Given the description of an element on the screen output the (x, y) to click on. 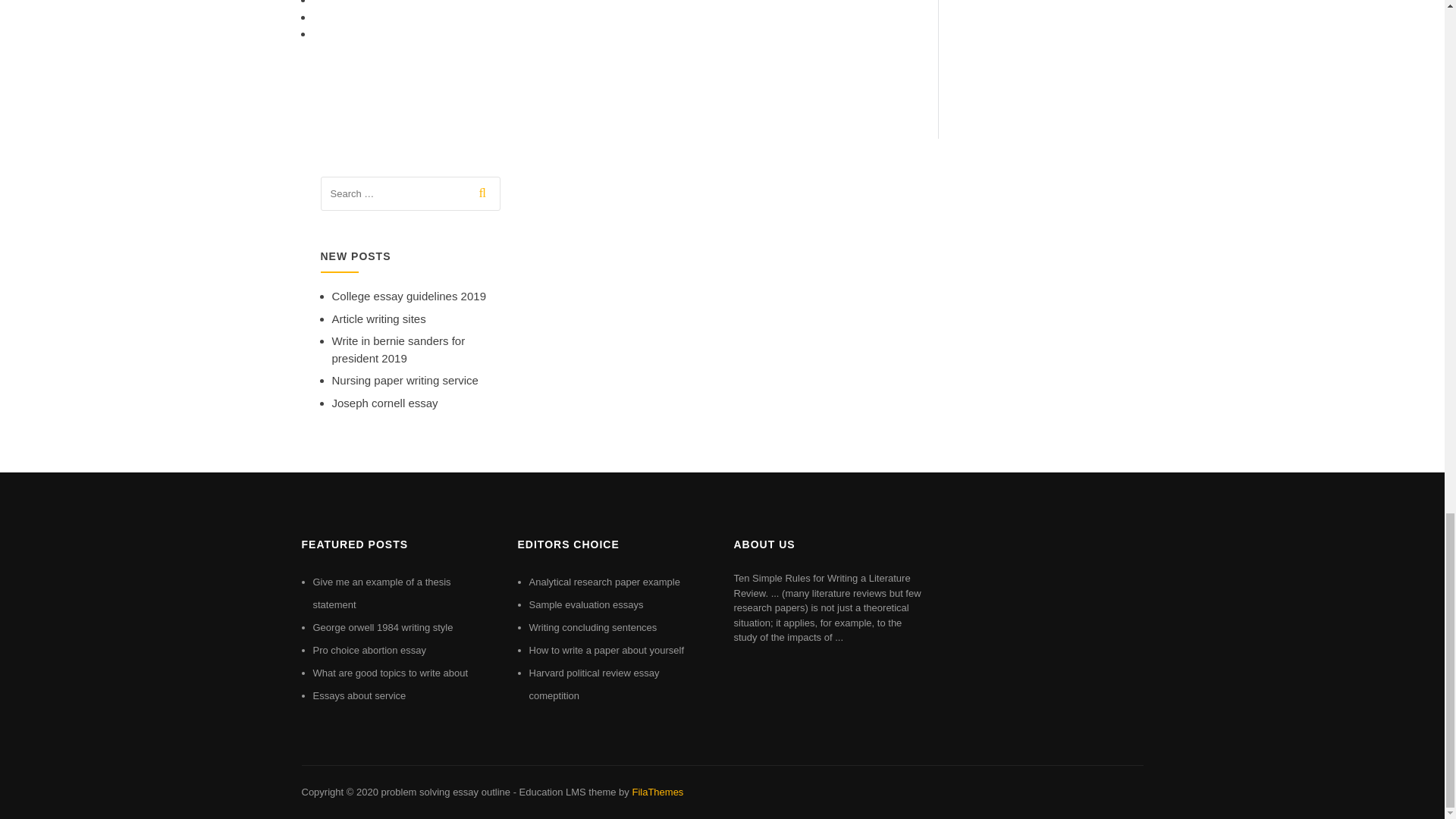
Article writing sites (378, 318)
Analytical research paper example (604, 582)
Harvard political review essay comeptition (594, 684)
Sample evaluation essays (586, 604)
What are good topics to write about (390, 672)
Write in bernie sanders for president 2019 (398, 349)
Give me an example of a thesis statement (381, 593)
George orwell 1984 writing style (382, 627)
How to write a paper about yourself (606, 650)
Writing concluding sentences (593, 627)
